Given the description of an element on the screen output the (x, y) to click on. 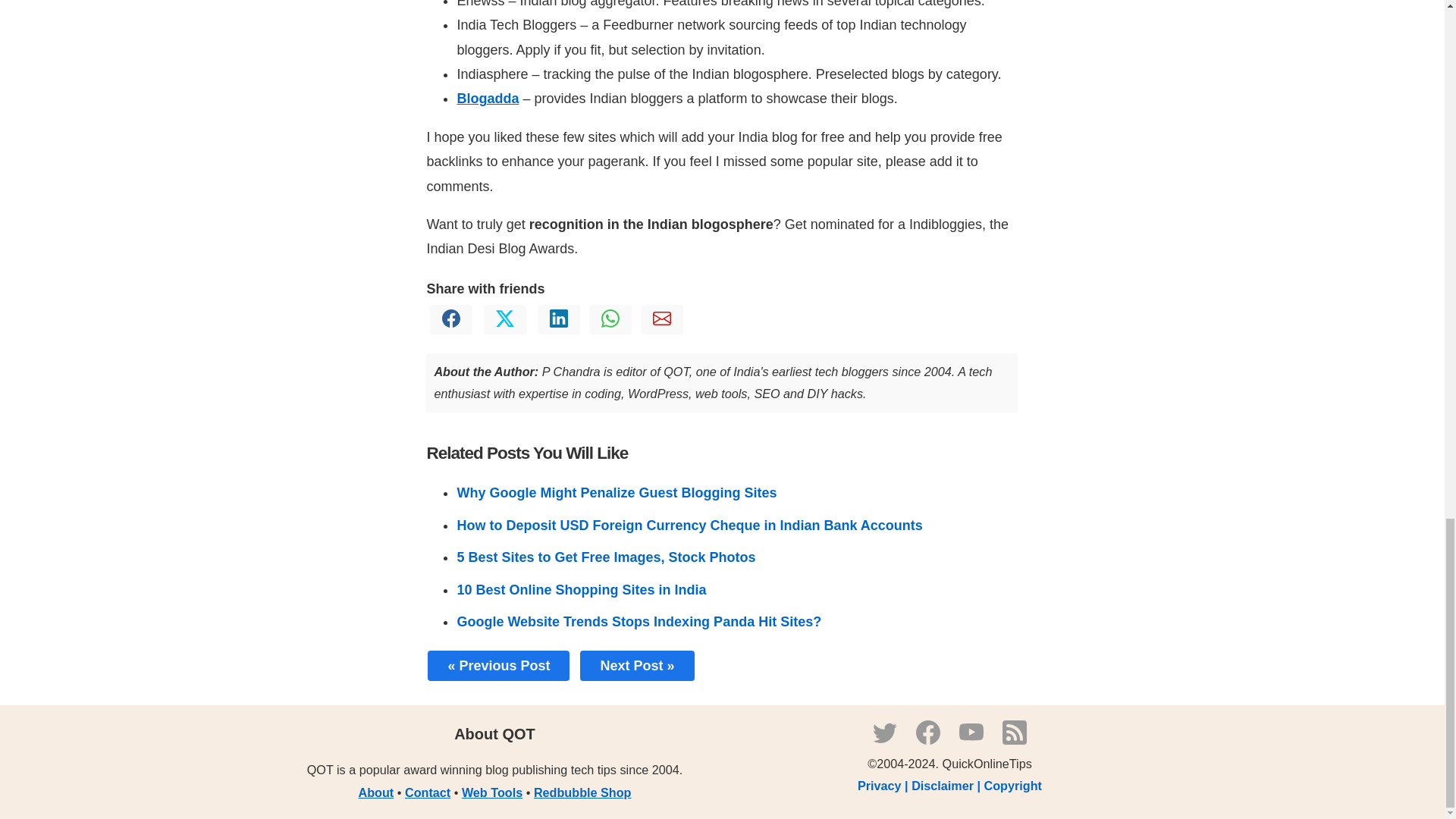
Web Tools (491, 792)
Follow us on Facebook (927, 739)
Contact (426, 792)
Send to Whatsapp (610, 322)
10 Best Online Shopping Sites in India (581, 589)
Why Google Might Penalize Guest Blogging Sites (616, 492)
5 Best Sites to Get Free Images, Stock Photos (606, 557)
Follow us on Youtube (971, 739)
Follow us on Twitter (884, 739)
Share on Twitter (504, 322)
Subscribe RSS Feed (1014, 739)
Share on Linkedin (558, 322)
Google Website Trends Stops Indexing Panda Hit Sites? (639, 621)
About (376, 792)
Redbubble Shop (582, 792)
